Given the description of an element on the screen output the (x, y) to click on. 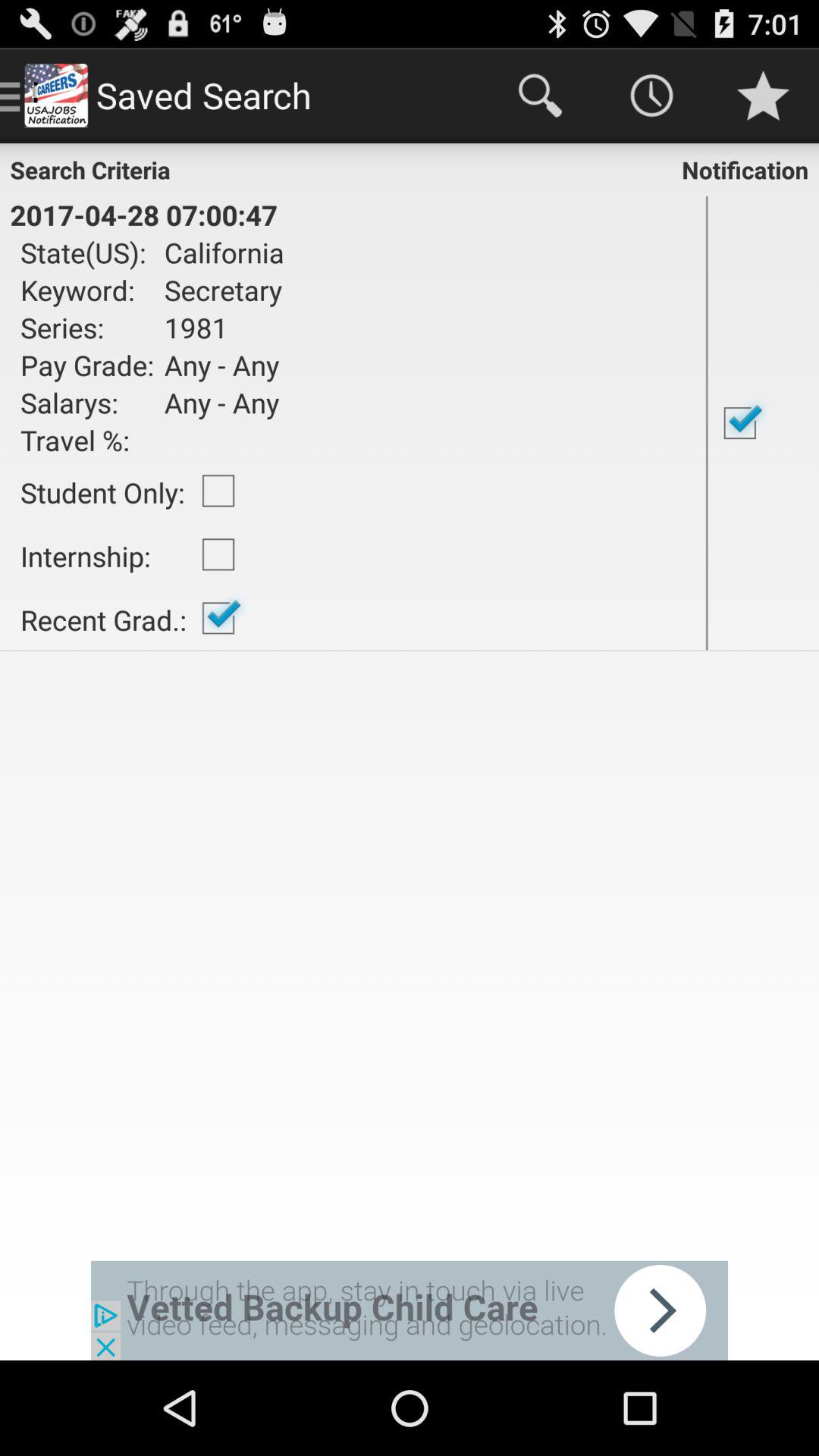
open the app next to the state(us): app (219, 252)
